Given the description of an element on the screen output the (x, y) to click on. 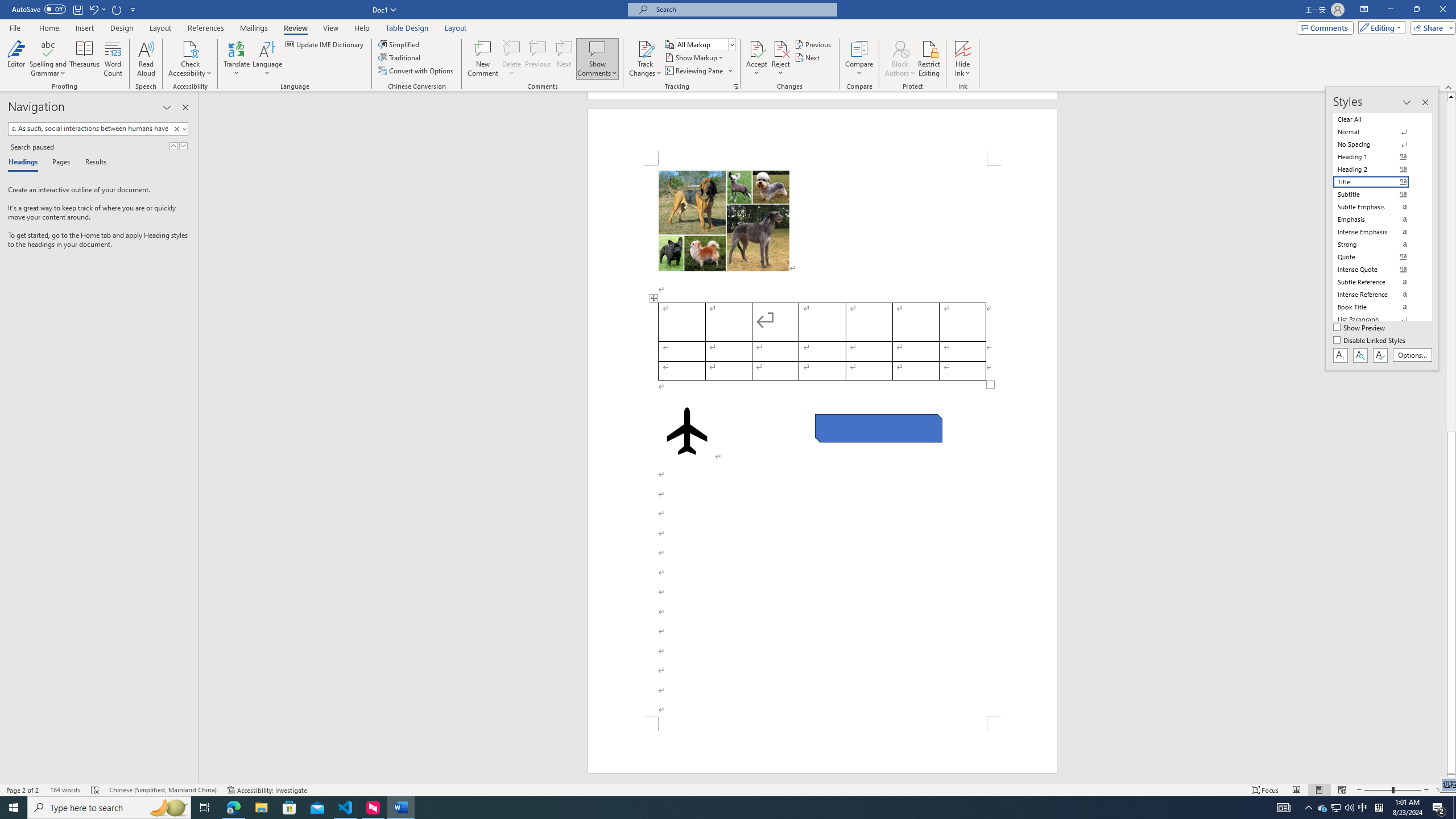
Morphological variation in six dogs (723, 220)
Line down (1450, 778)
Delete (511, 58)
Emphasis (1377, 219)
Heading 1 (1377, 156)
Previous Result (173, 145)
Restore Down (1416, 9)
Accept and Move to Next (756, 48)
Clear (178, 128)
Convert with Options... (417, 69)
Hide Ink (962, 58)
Language Chinese (Simplified, Mainland China) (162, 790)
Review (295, 28)
Ribbon Display Options (1364, 9)
Language (267, 58)
